Given the description of an element on the screen output the (x, y) to click on. 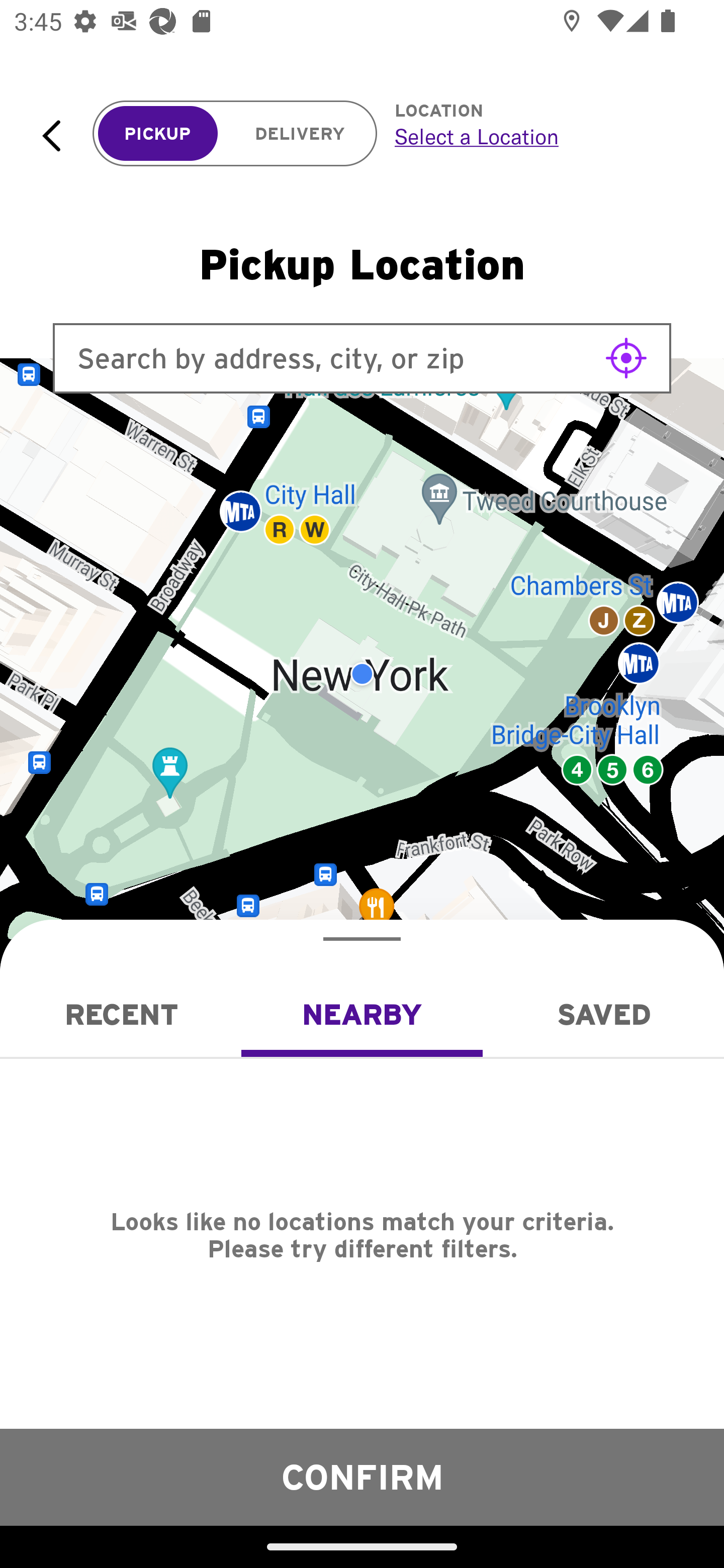
PICKUP (157, 133)
DELIVERY (299, 133)
Select a Location (536, 136)
Search by address, city, or zip (361, 358)
Google Map (362, 674)
Recent RECENT (120, 1014)
Saved SAVED (603, 1014)
CONFIRM (362, 1476)
